Given the description of an element on the screen output the (x, y) to click on. 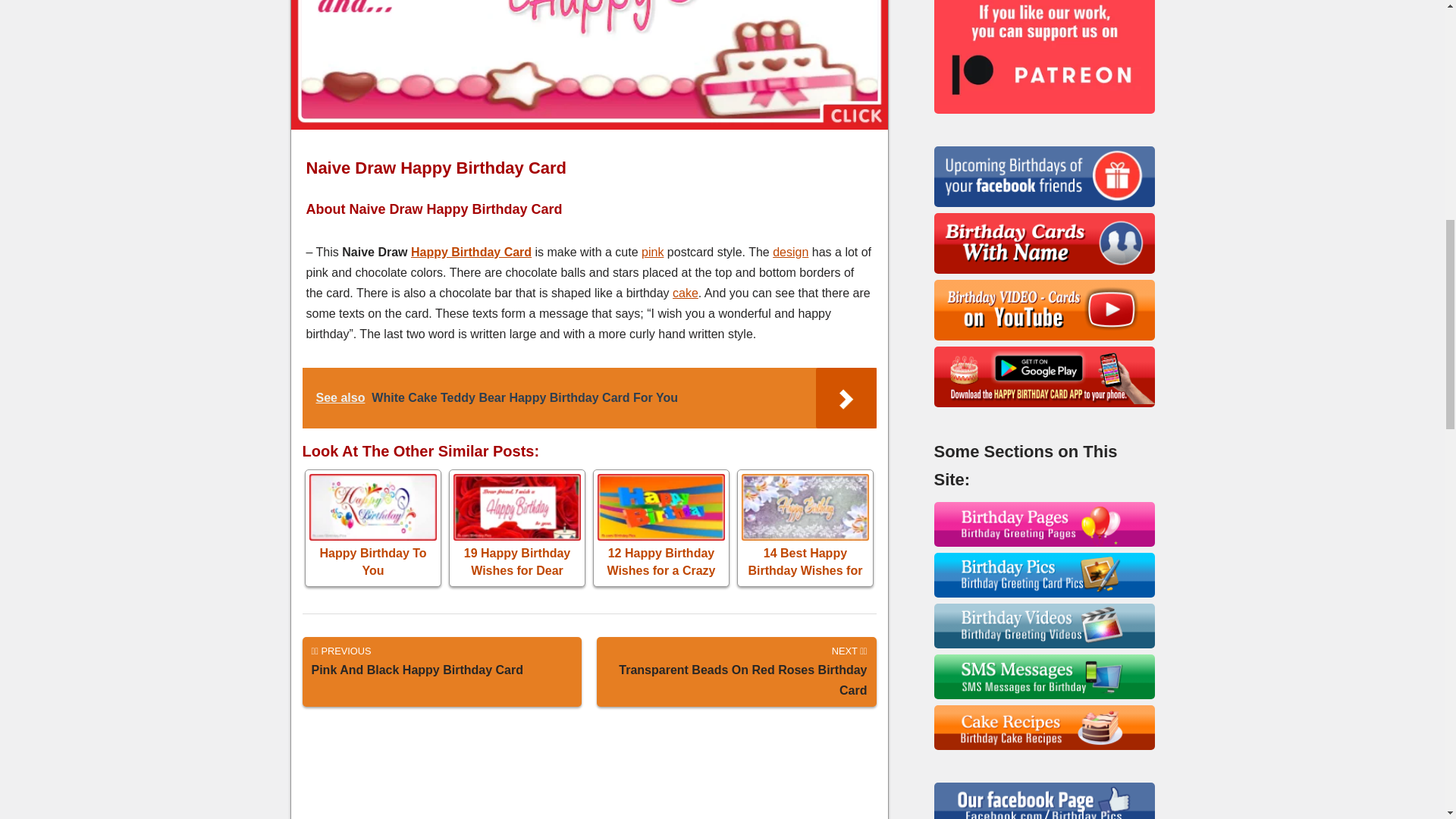
See also  White Cake Teddy Bear Happy Birthday Card For You (588, 397)
12 Happy Birthday Wishes for a Crazy Someone (661, 528)
Pink Birthday Cards (652, 251)
19 Happy Birthday Wishes for Dear Friend (517, 528)
14 Best Happy Birthday Wishes for an Elegant Lady (805, 528)
Happy Birthday To You (373, 528)
14 Best Happy Birthday Wishes for an Elegant Lady (805, 528)
Decoration Cards (790, 251)
Happy Birthday Card (736, 671)
